Given the description of an element on the screen output the (x, y) to click on. 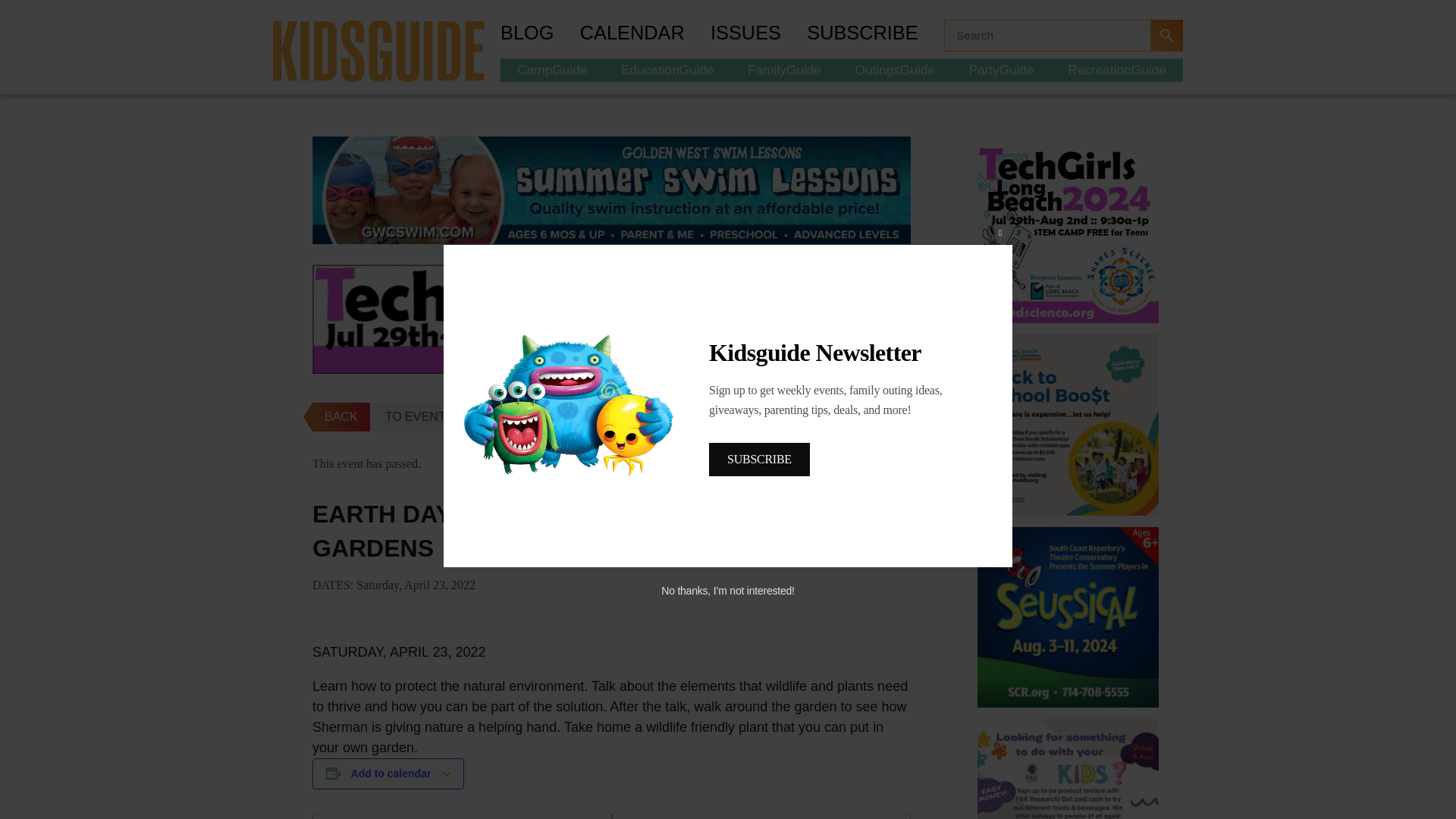
GO (1166, 35)
ISSUES (758, 35)
SUBSCRIBE (874, 35)
CampGuide (552, 69)
CALENDAR (644, 35)
BLOG (539, 35)
FamilyGuide (784, 69)
EducationGuide (667, 69)
OutingsGuide (895, 69)
